Given the description of an element on the screen output the (x, y) to click on. 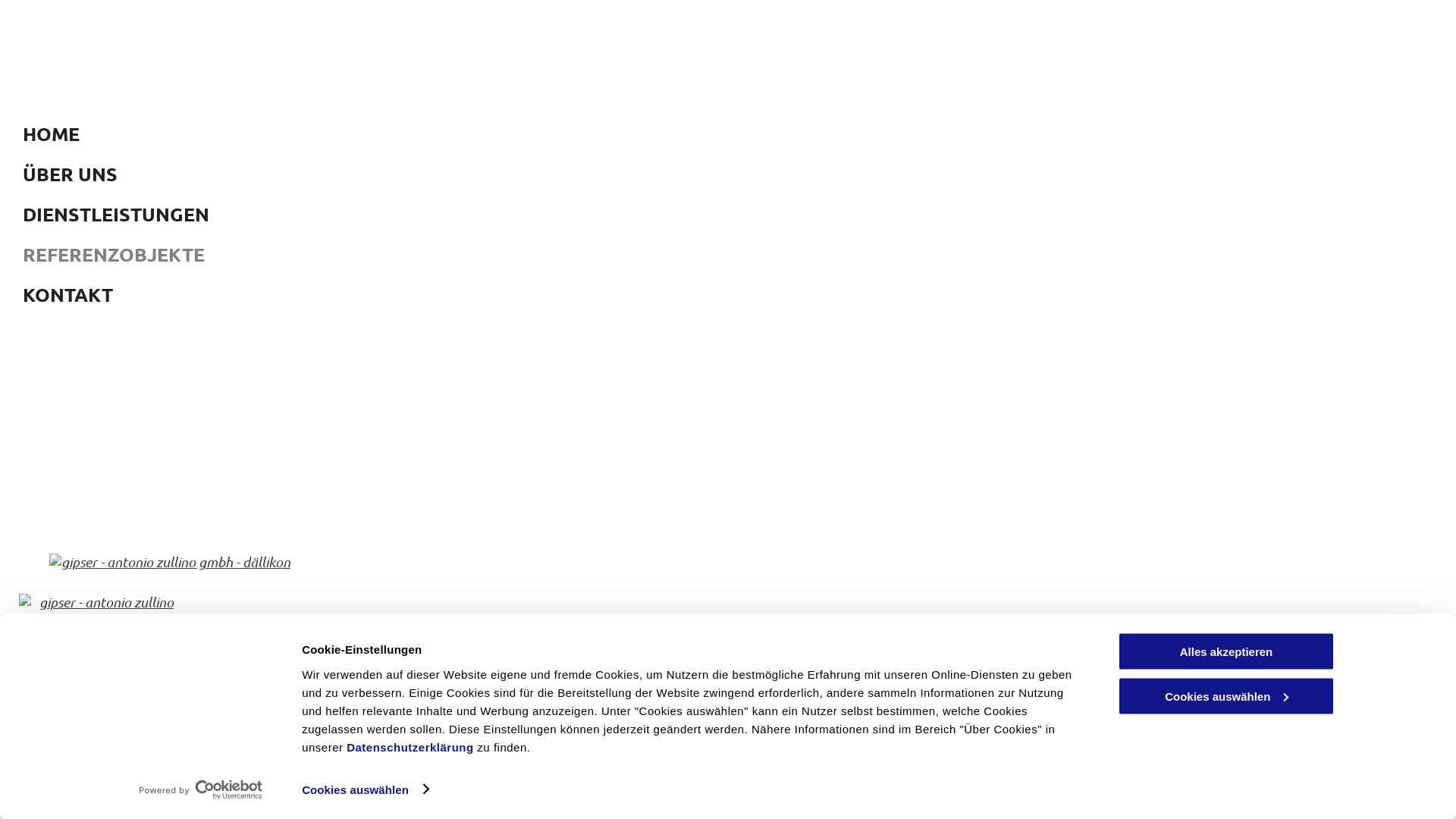
KONTAKT Element type: text (458, 294)
DIENSTLEISTUNGEN Element type: text (458, 214)
DIENSTLEISTUNGEN Element type: text (1010, 696)
REFERENZOBJEKTE Element type: text (458, 254)
HOME Element type: text (733, 696)
Alles akzeptieren Element type: text (1225, 651)
HOME Element type: text (458, 133)
REFERENZOBJEKTE Element type: text (1225, 696)
KONTAKT Element type: text (1391, 696)
